Given the description of an element on the screen output the (x, y) to click on. 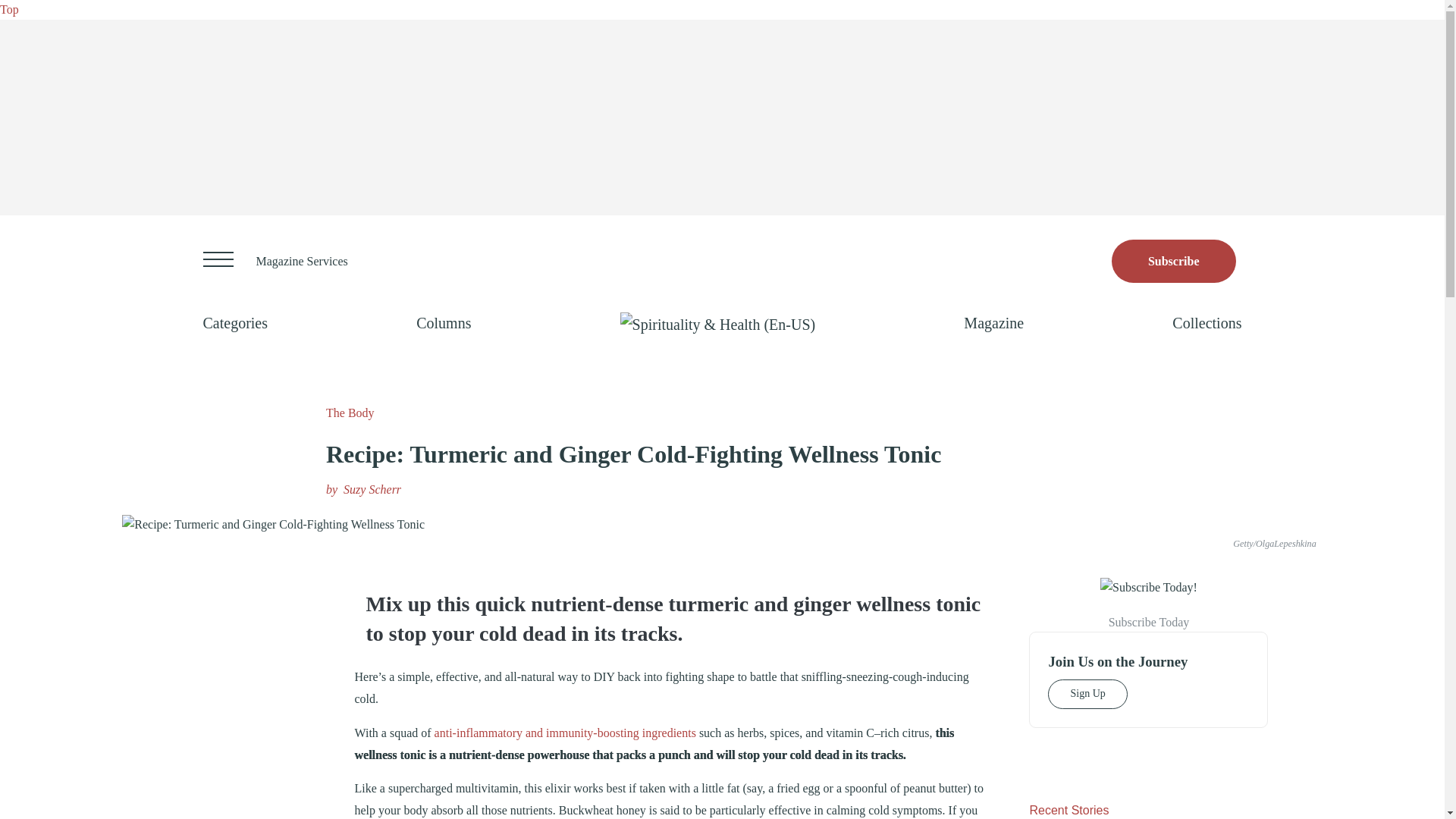
Magazine Services (301, 260)
Categories (235, 322)
Collections (1206, 322)
Subscribe (1174, 261)
Top (9, 9)
Magazine (993, 322)
Columns (443, 322)
Opens to Store site (1174, 261)
